Given the description of an element on the screen output the (x, y) to click on. 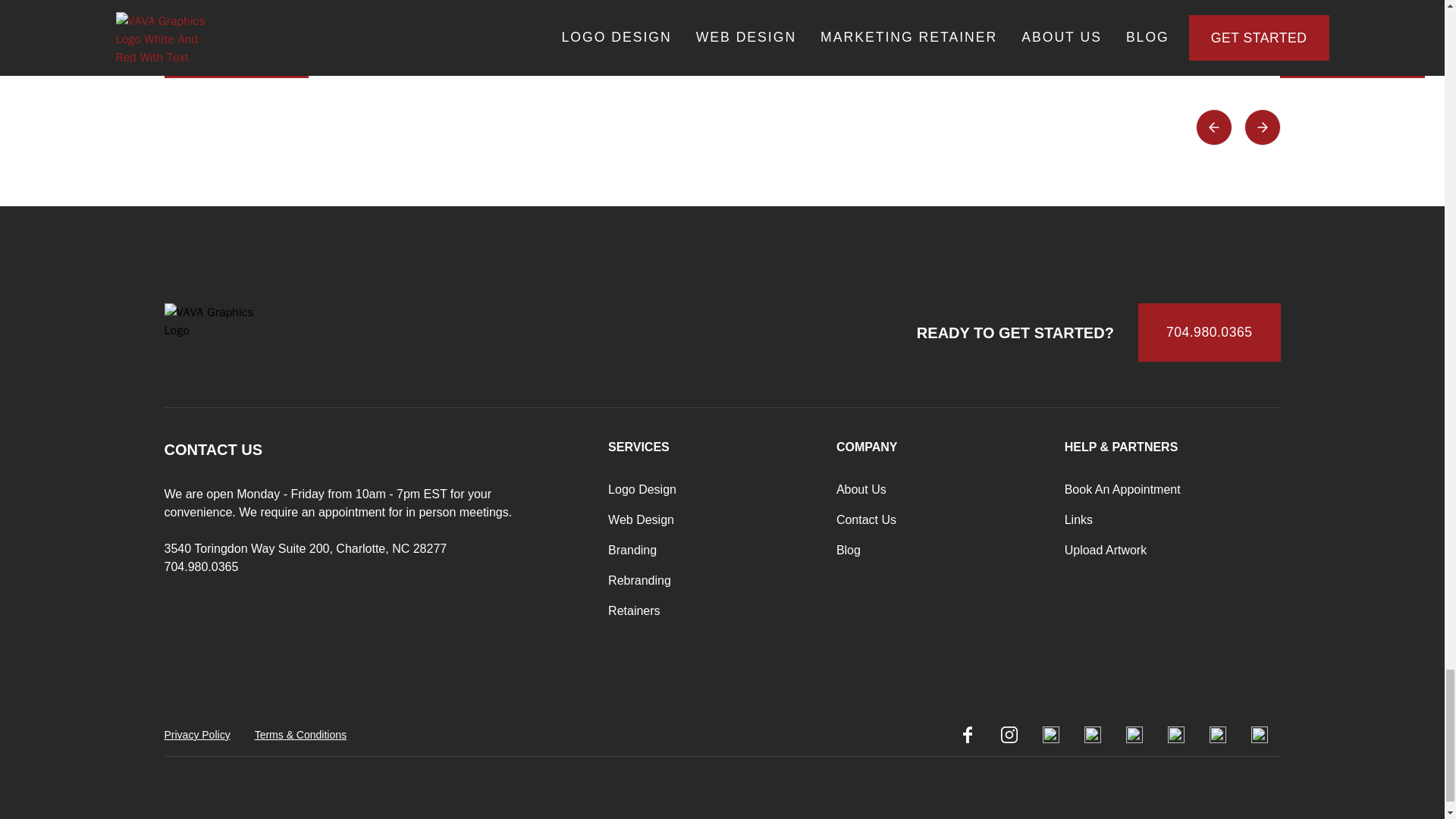
READ ARTICLE (608, 35)
READ ARTICLE (1352, 53)
READ ARTICLE (980, 35)
READ ARTICLE (235, 53)
